Given the description of an element on the screen output the (x, y) to click on. 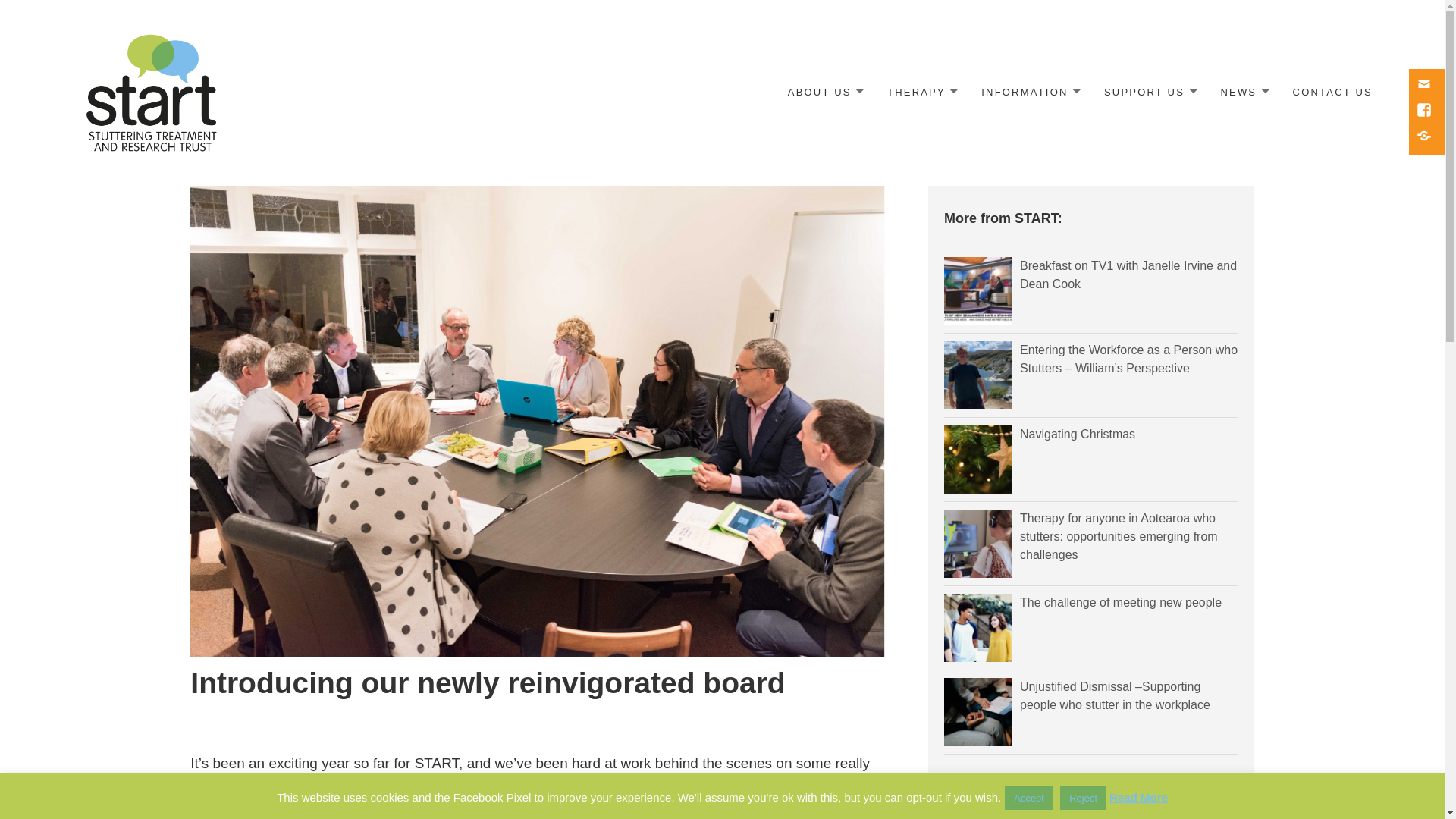
ABOUT US (824, 92)
THERAPY (922, 92)
SUPPORT US (1150, 92)
CONTACT US (1332, 92)
INFORMATION (1029, 92)
NEWS (1243, 92)
